Given the description of an element on the screen output the (x, y) to click on. 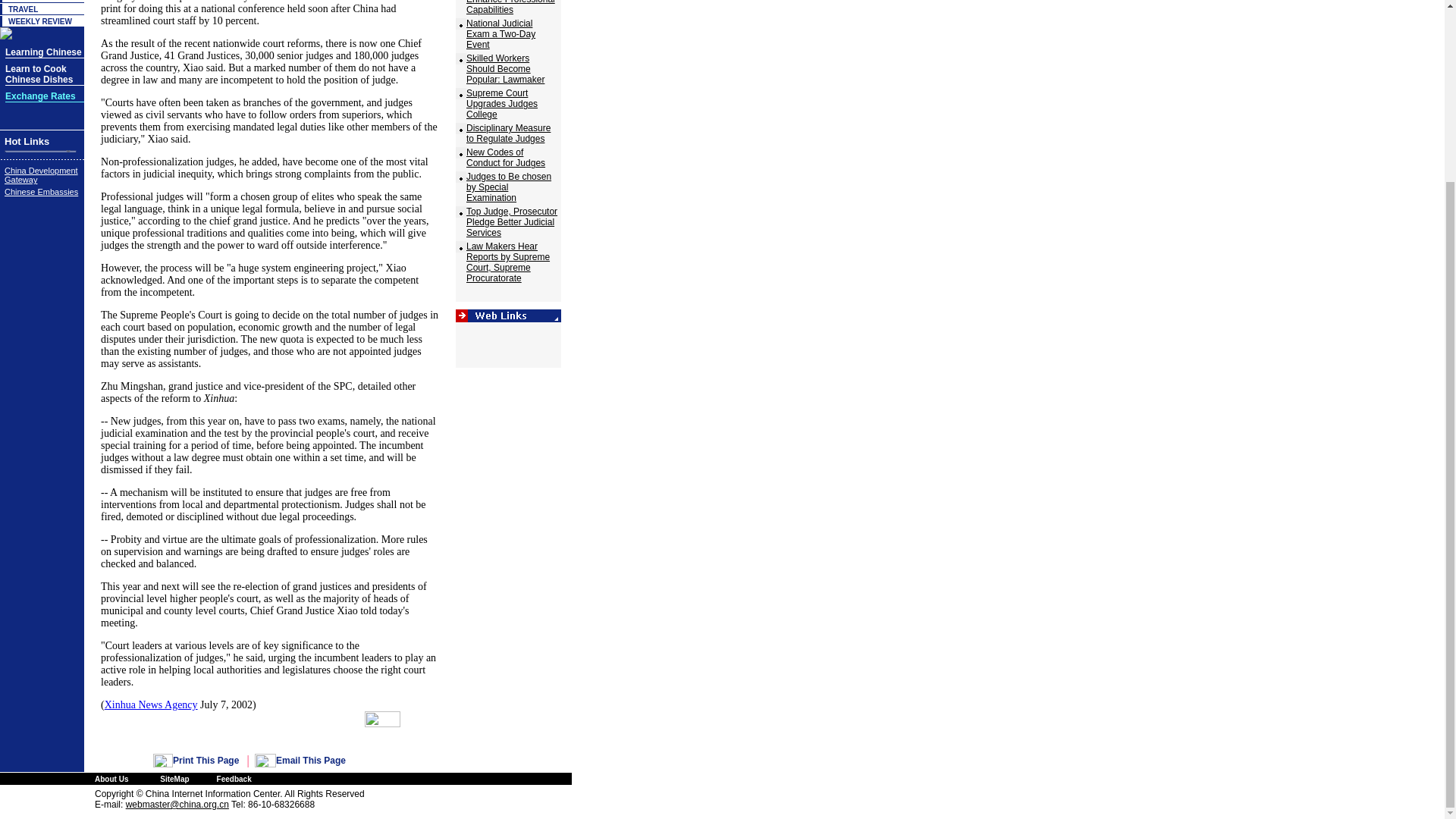
TRAVEL (22, 8)
Education Ministry to Enhance Professional Capabilities (509, 7)
Feedback (233, 777)
PEOPLE (23, 0)
WEEKLY REVIEW (39, 21)
About Us (111, 777)
Chinese Embassies (41, 191)
SiteMap (174, 777)
Top Judge, Prosecutor Pledge Better Judicial Services (511, 222)
China Development Gateway (41, 175)
Judges to Be chosen by Special Examination (508, 187)
Email This Page (311, 760)
Exchange Rates (40, 95)
Skilled Workers Should Become Popular: Lawmaker (504, 69)
